Given the description of an element on the screen output the (x, y) to click on. 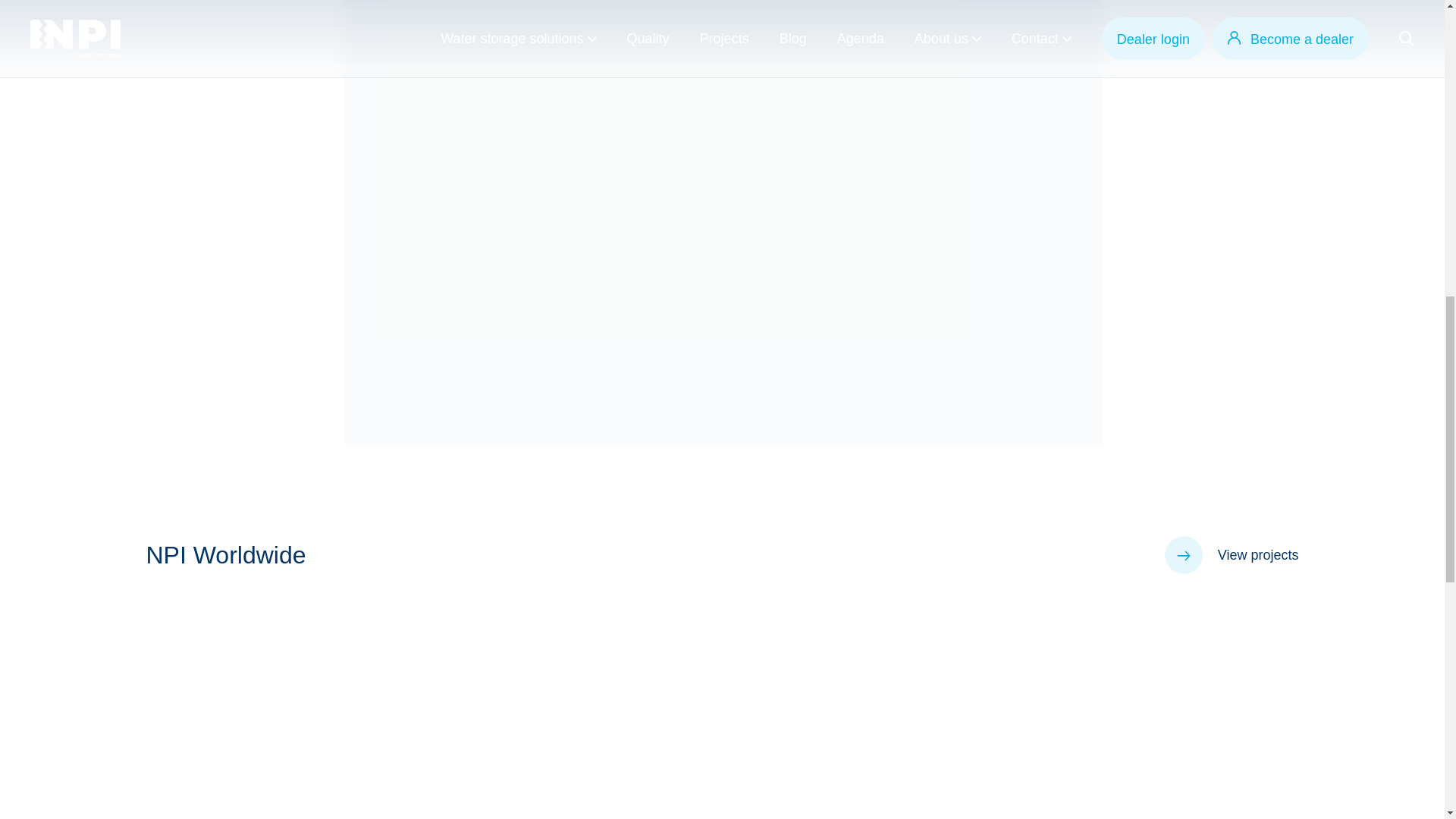
View projects (1231, 555)
